Given the description of an element on the screen output the (x, y) to click on. 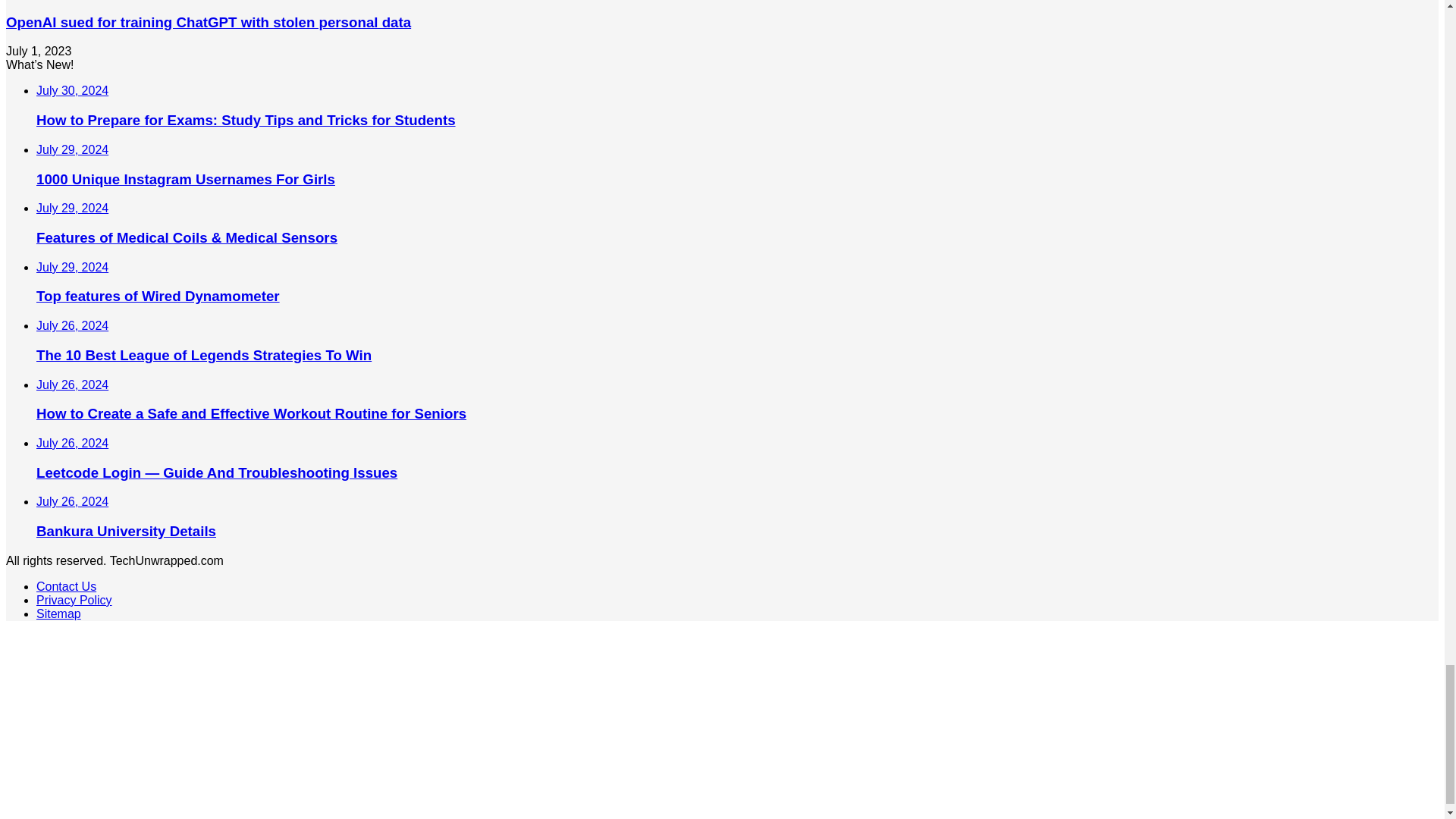
Sitemap (58, 613)
OpenAI sued for training ChatGPT with stolen personal data (207, 22)
Contact Us (66, 585)
Privacy Policy (74, 599)
